Given the description of an element on the screen output the (x, y) to click on. 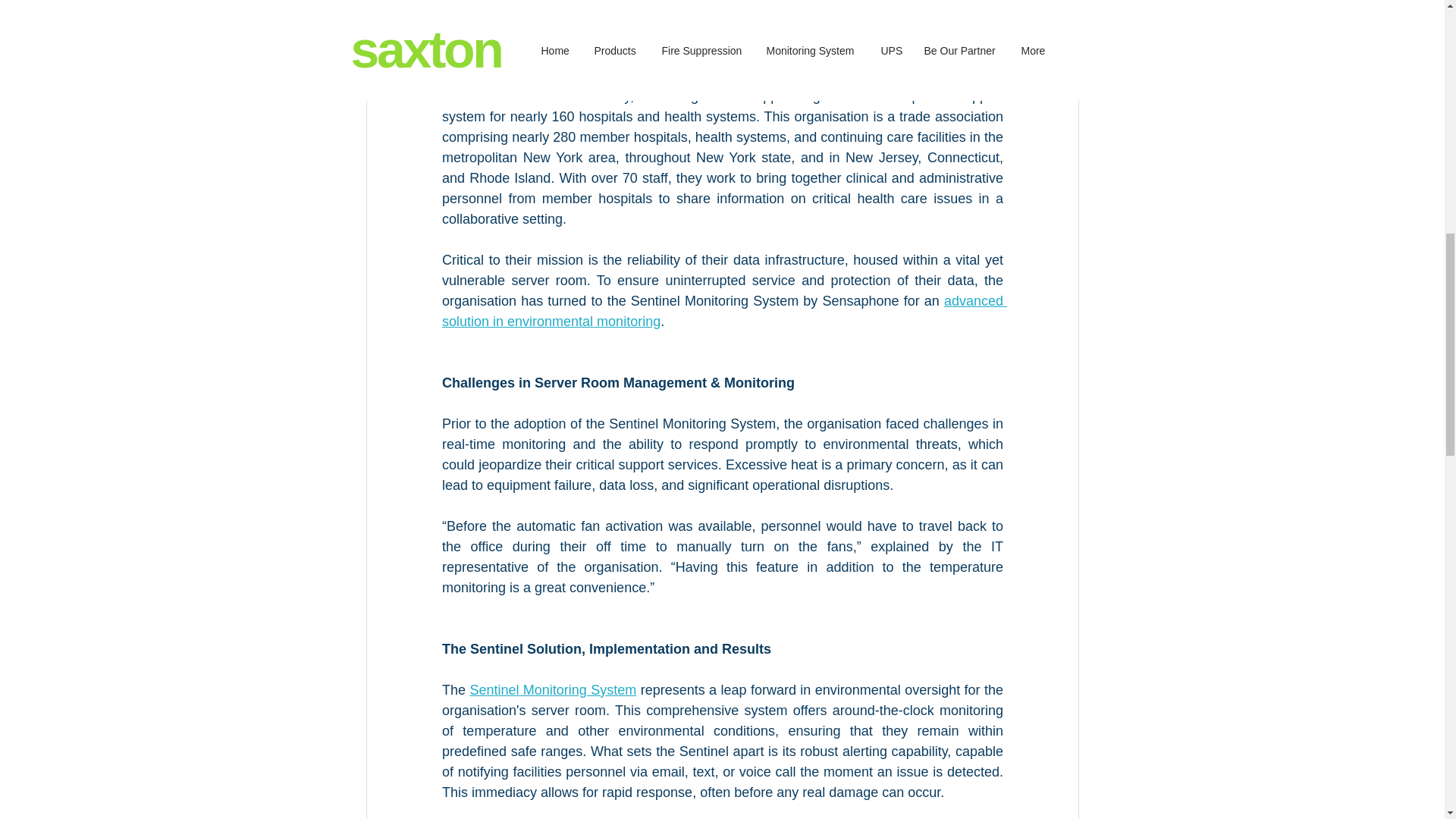
Sentinel Monitoring System (552, 689)
advanced solution in environmental monitoring (723, 311)
